Given the description of an element on the screen output the (x, y) to click on. 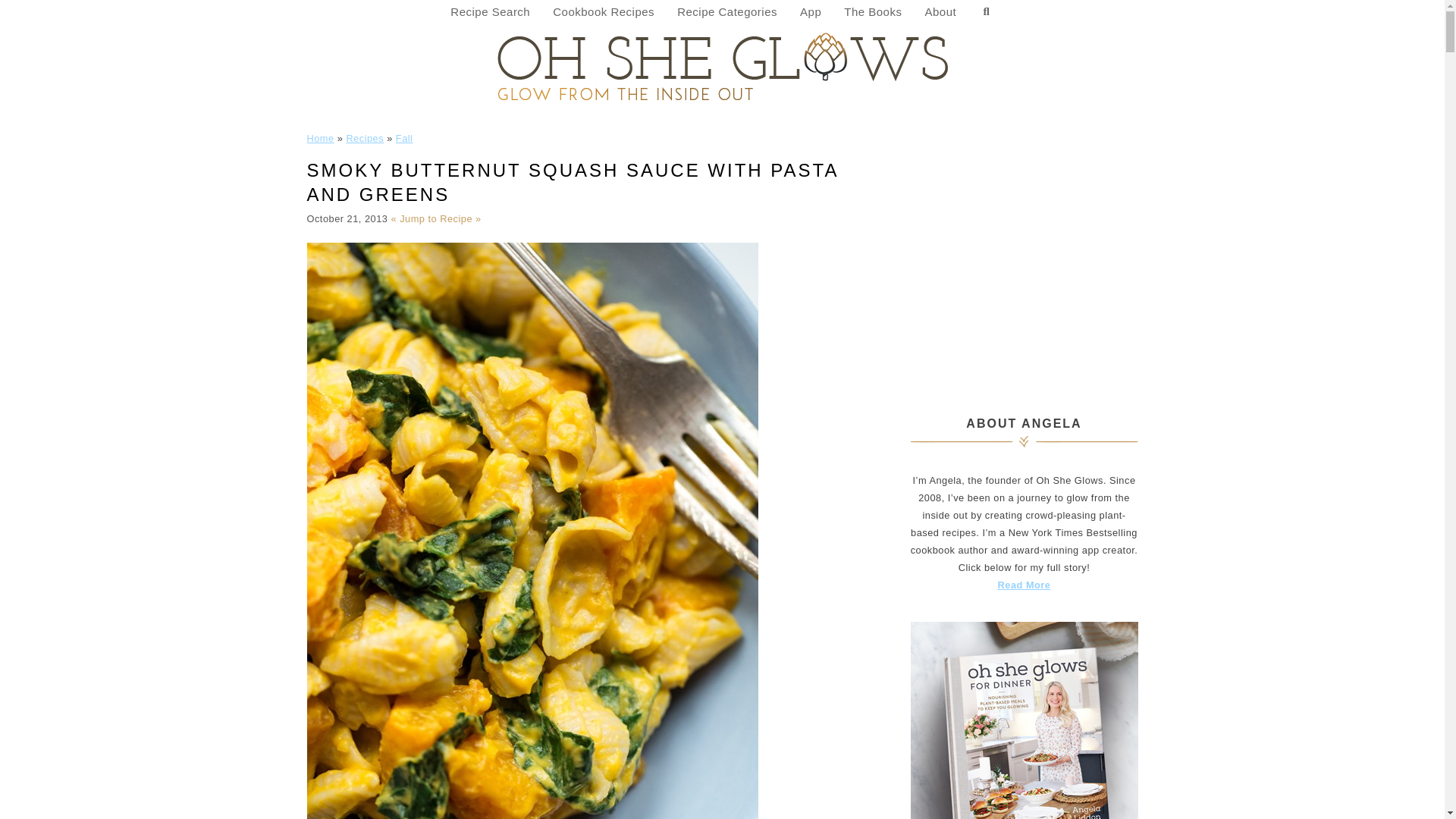
Recipe Search (490, 11)
About (940, 11)
Oh She Glows (722, 65)
The Books (872, 11)
Recipe Categories (727, 11)
Recipes (365, 138)
Search (986, 11)
Oh She Glows (721, 64)
Fall (404, 138)
Home (319, 138)
App (810, 11)
Cookbook Recipes (603, 11)
